Given the description of an element on the screen output the (x, y) to click on. 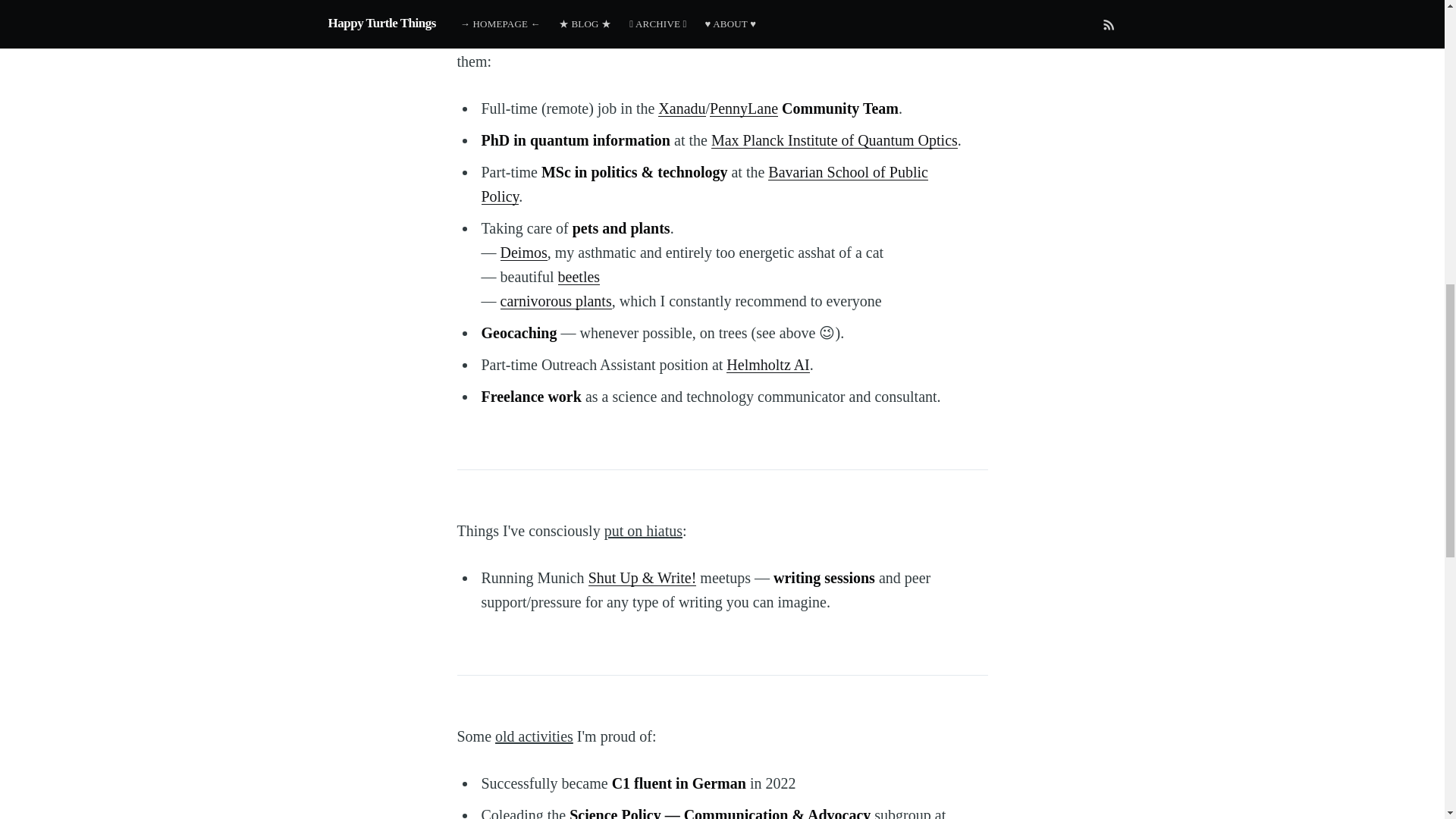
Bavarian School of Public Policy (703, 183)
Xanadu (681, 108)
PennyLane (743, 108)
beetles (578, 276)
carnivorous plants (555, 300)
Deimos (523, 252)
Max Planck Institute of Quantum Optics (834, 139)
Helmholtz AI (767, 364)
